Given the description of an element on the screen output the (x, y) to click on. 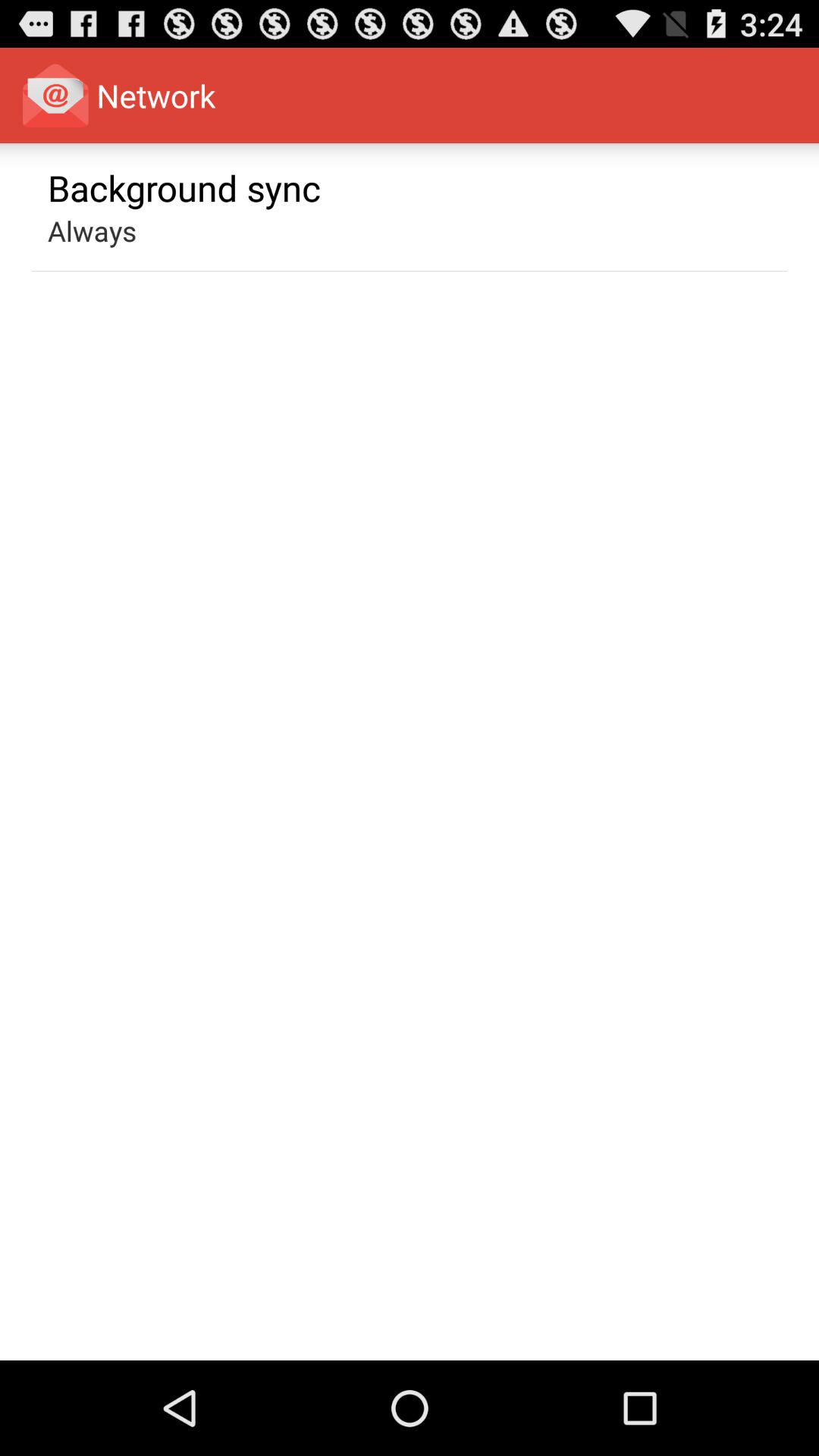
click the app below the background sync app (91, 230)
